Given the description of an element on the screen output the (x, y) to click on. 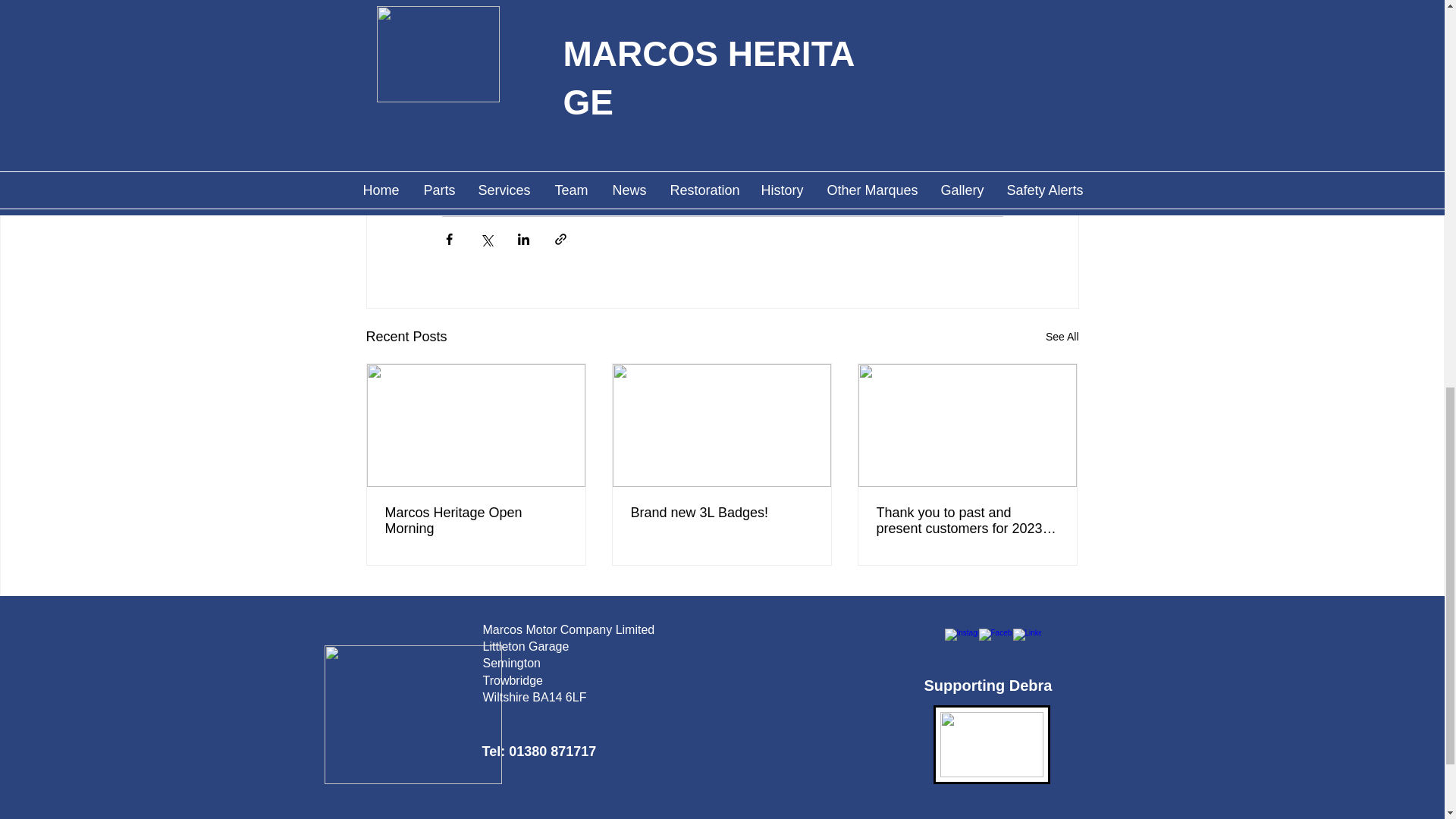
Brand new 3L Badges! (721, 512)
Marcos Heritage Open Morning (476, 521)
Debra.png (991, 744)
See All (1061, 336)
